Given the description of an element on the screen output the (x, y) to click on. 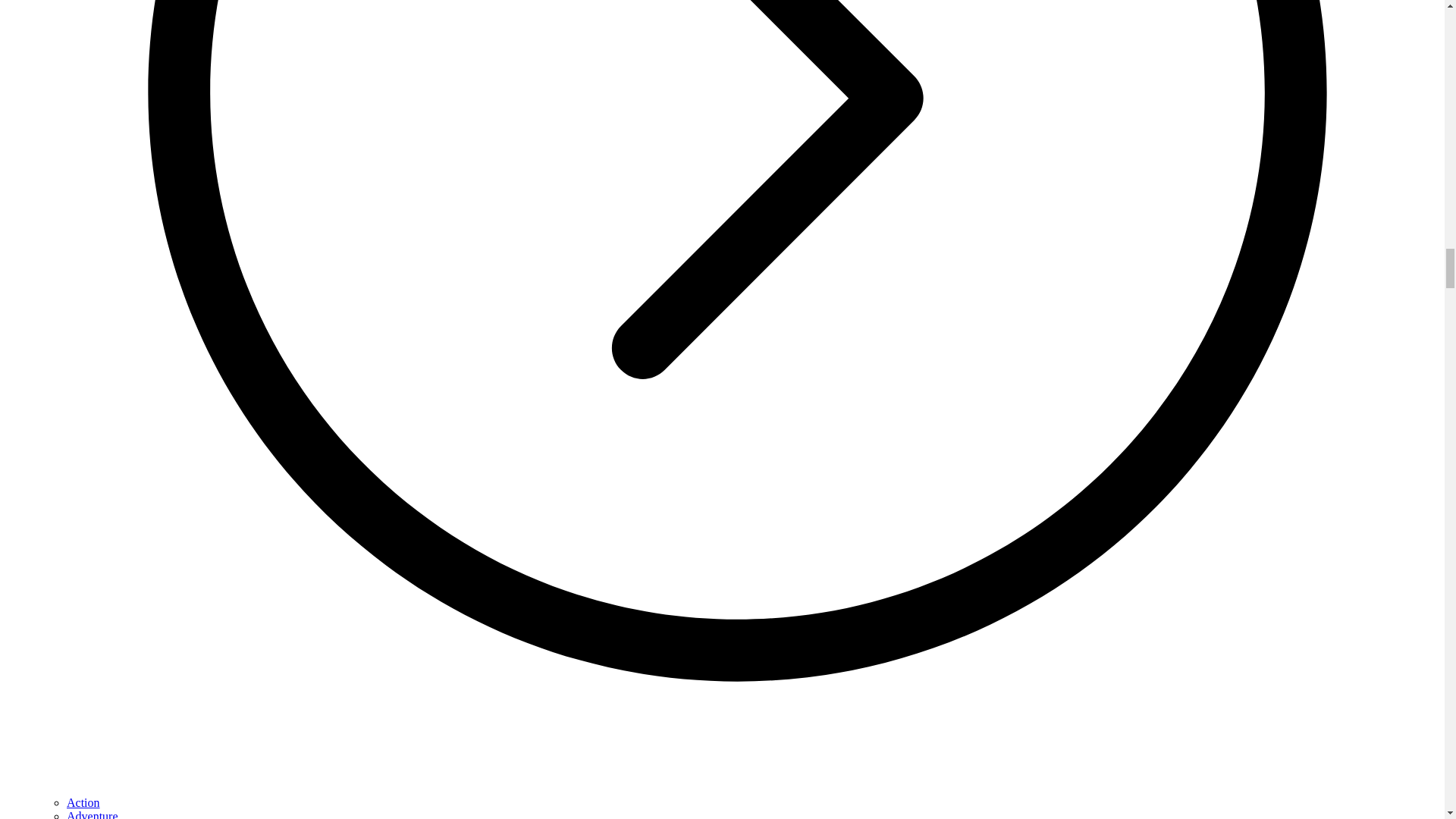
Adventure (91, 814)
Action (83, 802)
